Given the description of an element on the screen output the (x, y) to click on. 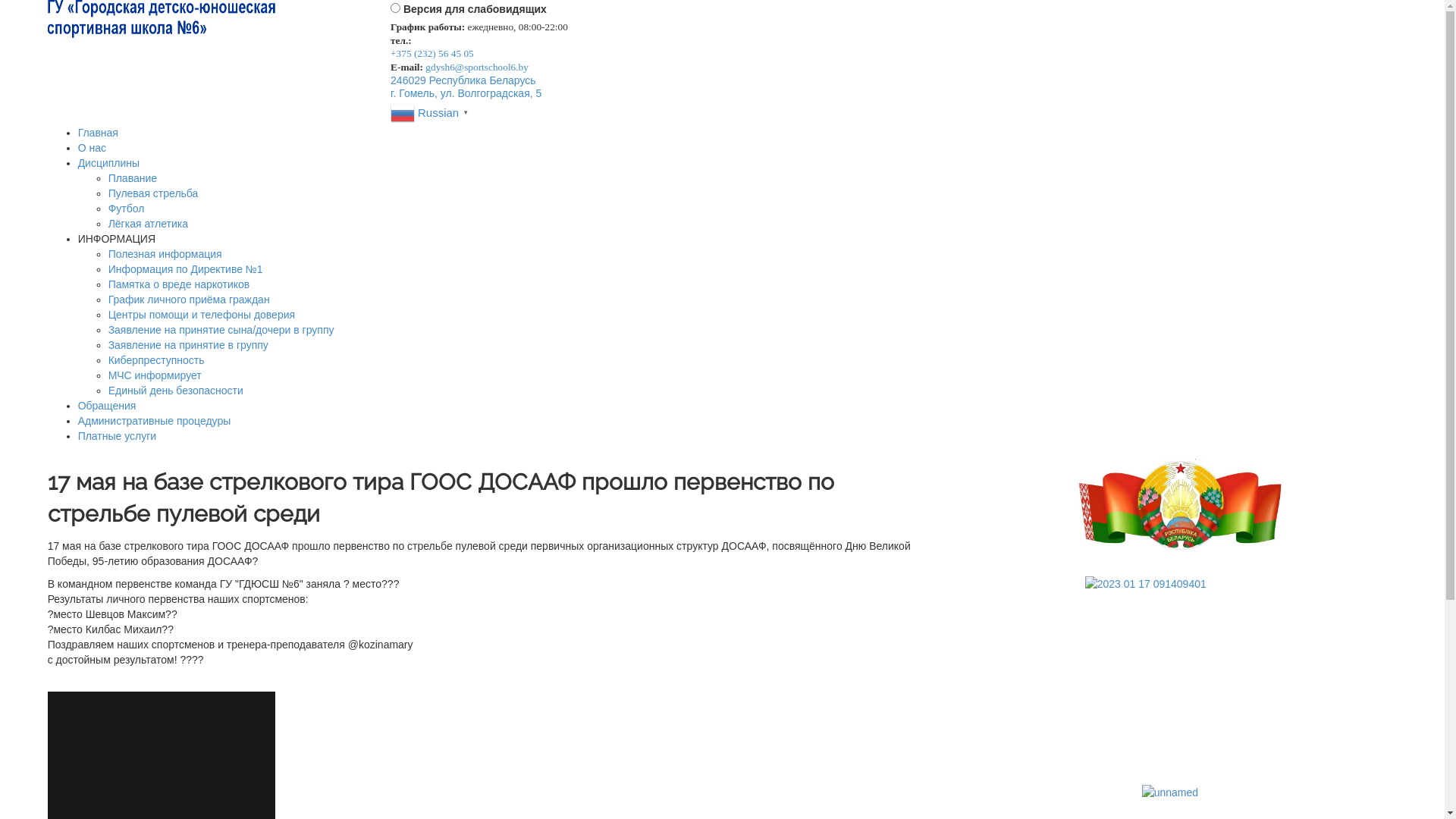
gdysh6@sportschool6.by Element type: text (476, 66)
+375 (232) 56 45 05 Element type: text (431, 53)
